Given the description of an element on the screen output the (x, y) to click on. 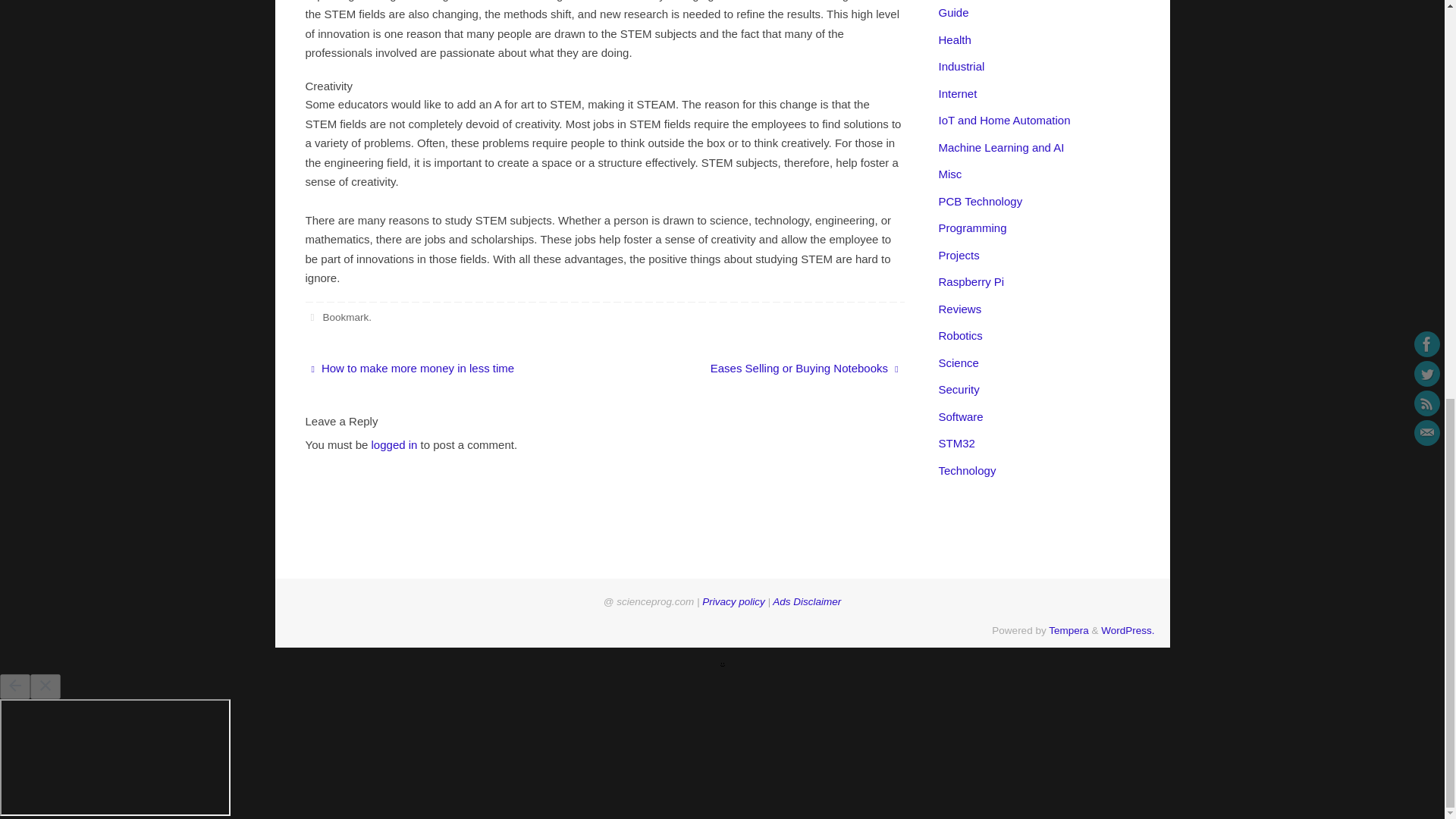
Permalink to 4 Reasons to Study STEM (344, 317)
logged in (394, 444)
Bookmark (344, 317)
How to make more money in less time (445, 368)
 Bookmark the permalink (311, 317)
Eases Selling or Buying Notebooks (763, 368)
Tempera Theme by Cryout Creations (1068, 630)
